Given the description of an element on the screen output the (x, y) to click on. 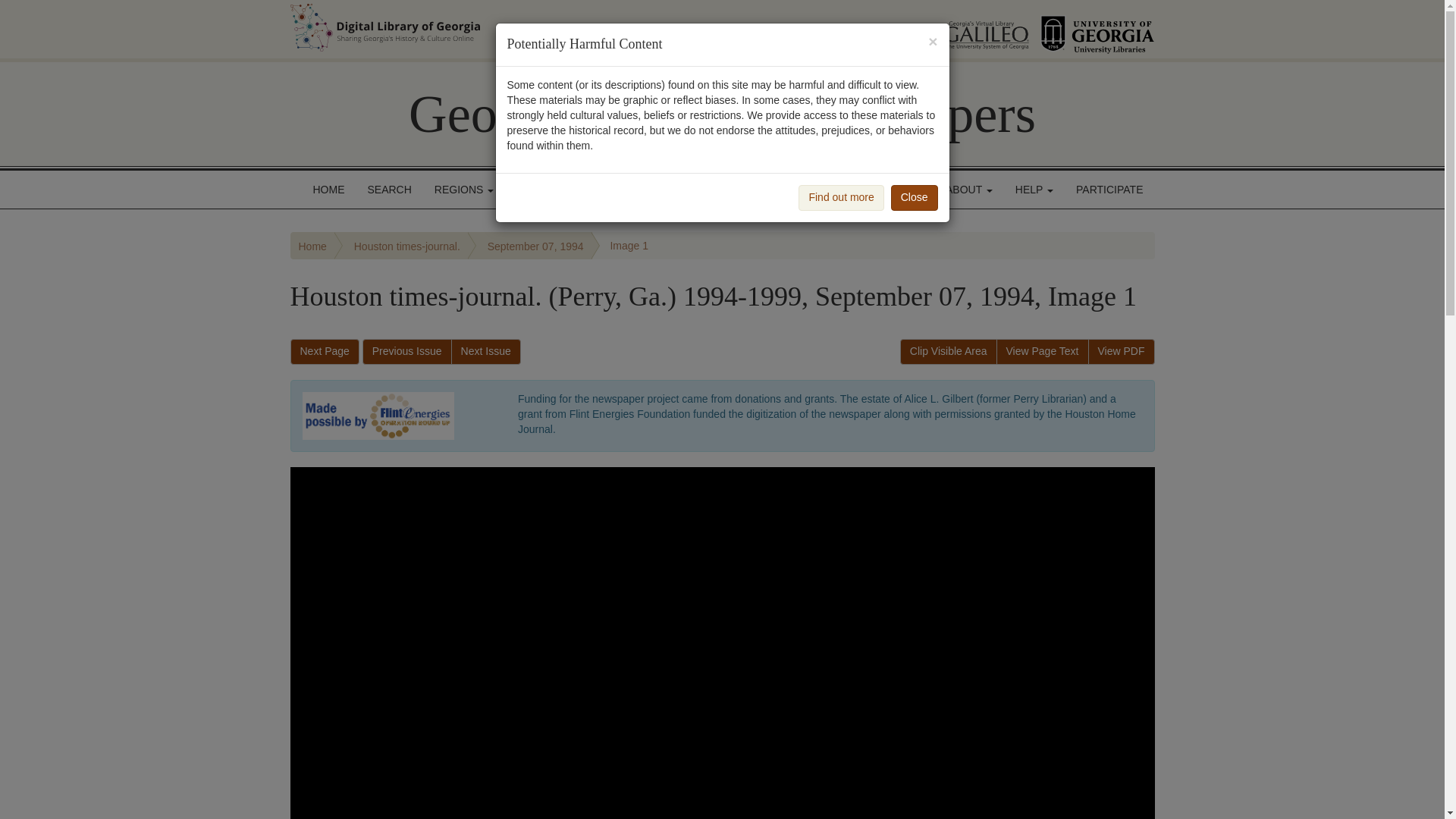
Home (311, 245)
GHNP Homepage (722, 114)
NEWS (901, 189)
BROWSE (545, 189)
PARTICIPATE (1109, 189)
SEARCH (389, 189)
REGIONS (464, 189)
Georgia Historic Newspapers (722, 114)
HELP (1034, 189)
UGA Libraries Homepage Link (1097, 29)
GALILEO Homepage Link (968, 29)
ABOUT (969, 189)
DLG Homepage Link (536, 27)
